Given the description of an element on the screen output the (x, y) to click on. 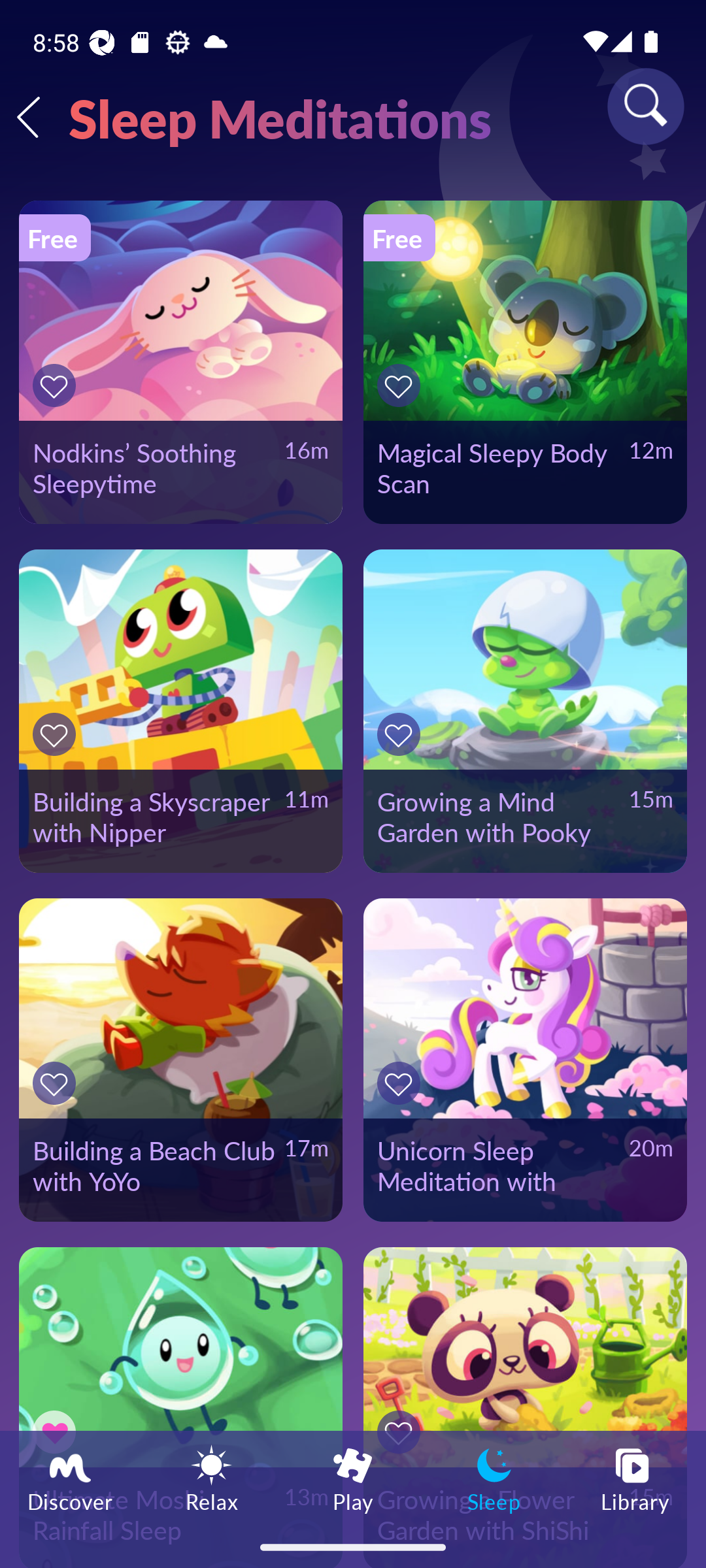
Button (57, 385)
Button (401, 385)
Button (57, 734)
Button (401, 734)
Button (57, 1083)
Button (401, 1083)
Discover (70, 1478)
Relax (211, 1478)
Play (352, 1478)
Library (635, 1478)
